Given the description of an element on the screen output the (x, y) to click on. 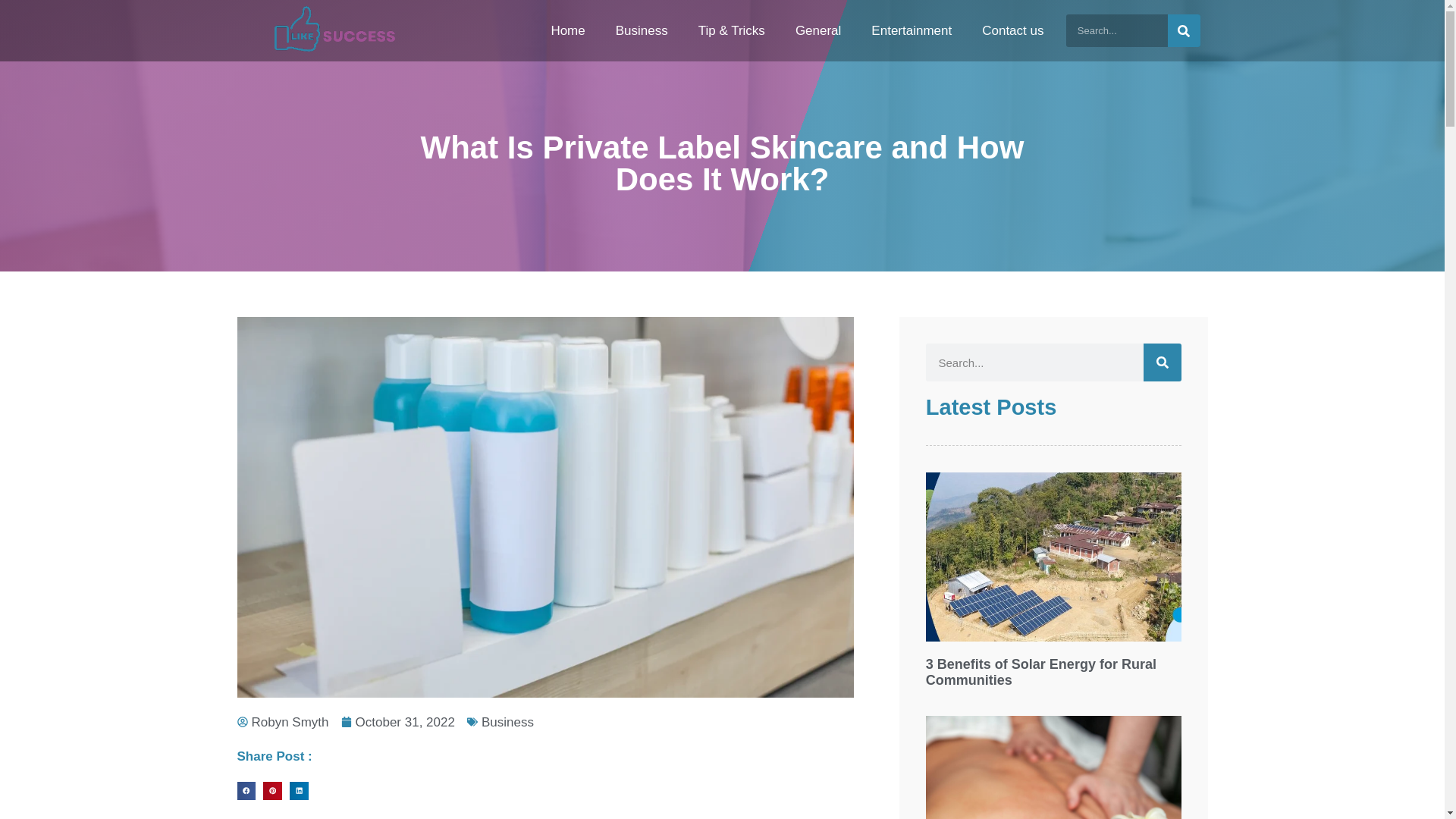
Robyn Smyth (282, 722)
October 31, 2022 (397, 722)
Home (567, 30)
Business (507, 721)
3 Benefits of Solar Energy for Rural Communities (1041, 672)
Contact us (1012, 30)
General (818, 30)
Entertainment (911, 30)
Business (640, 30)
